Given the description of an element on the screen output the (x, y) to click on. 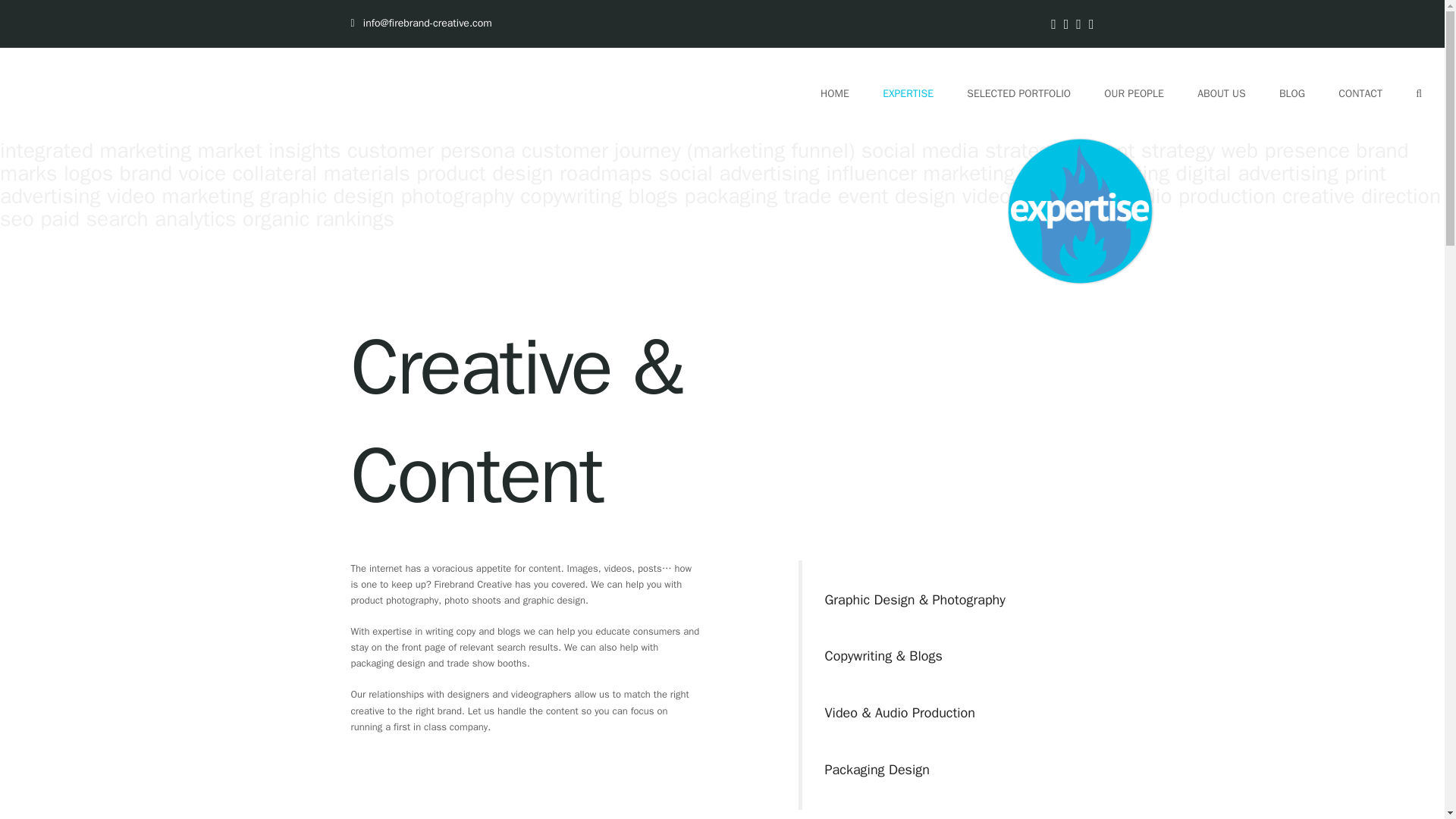
Packaging Design (877, 769)
SELECTED PORTFOLIO (1018, 93)
Packaging Design (877, 769)
